Given the description of an element on the screen output the (x, y) to click on. 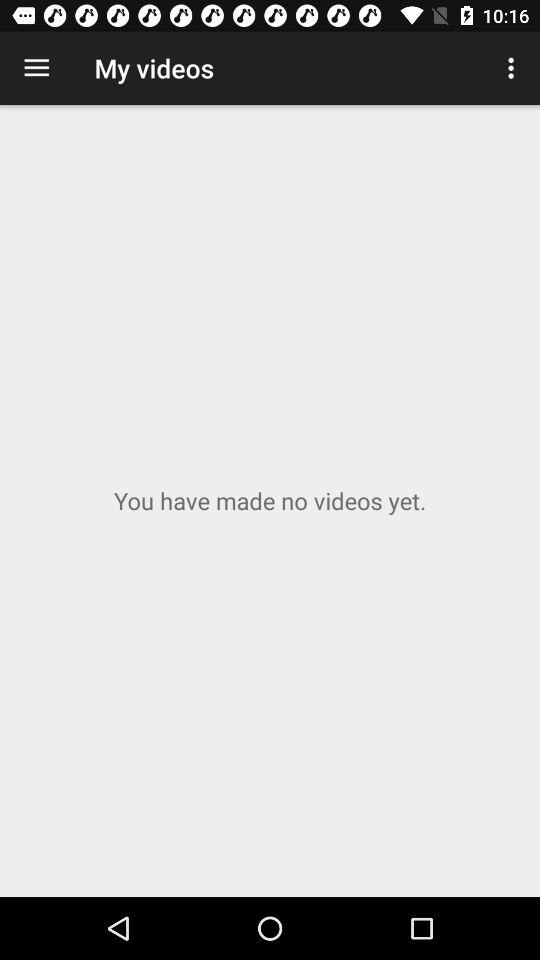
launch icon at the top right corner (513, 67)
